Given the description of an element on the screen output the (x, y) to click on. 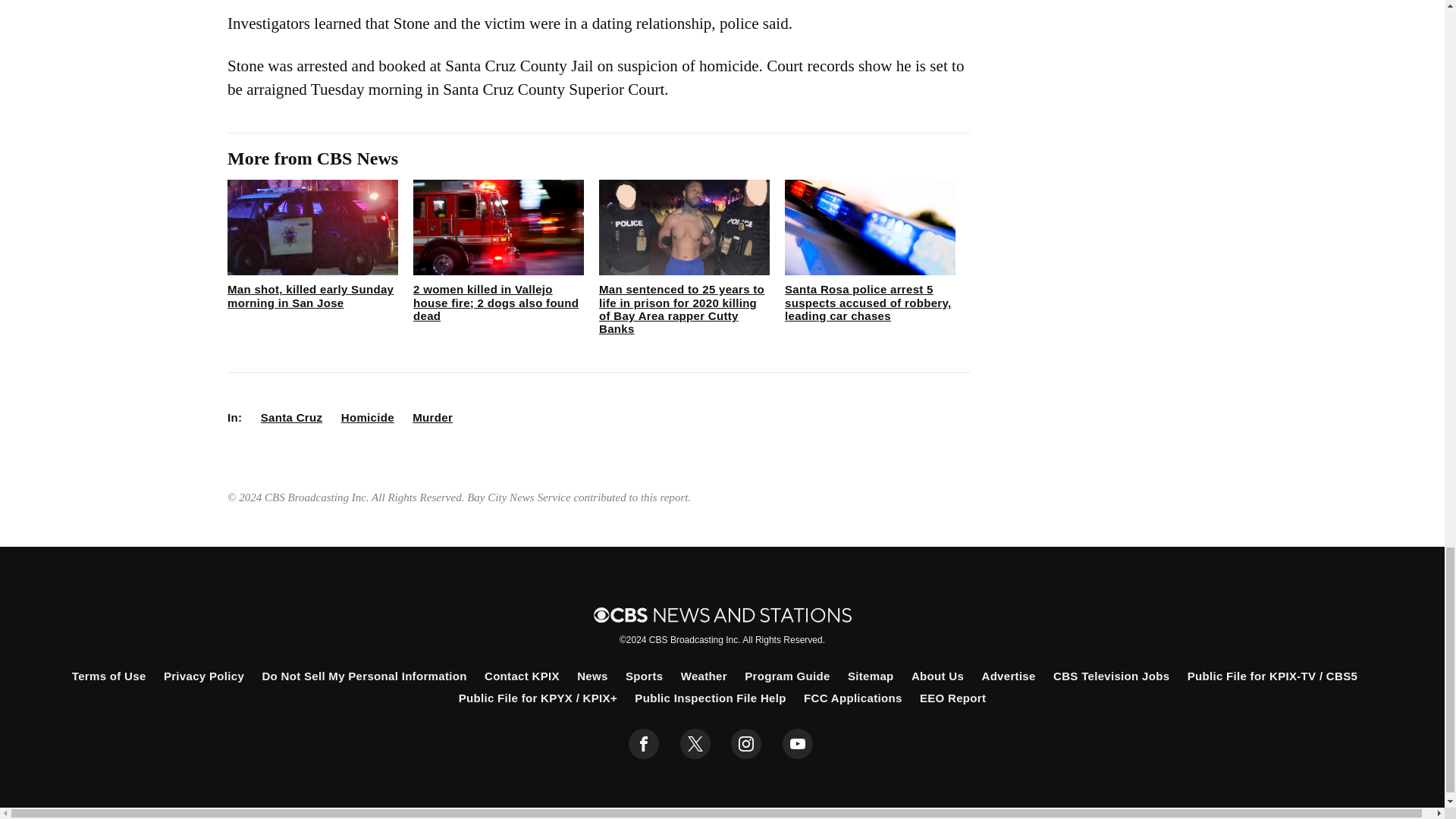
facebook (643, 743)
instagram (745, 743)
youtube (797, 743)
twitter (694, 743)
